Given the description of an element on the screen output the (x, y) to click on. 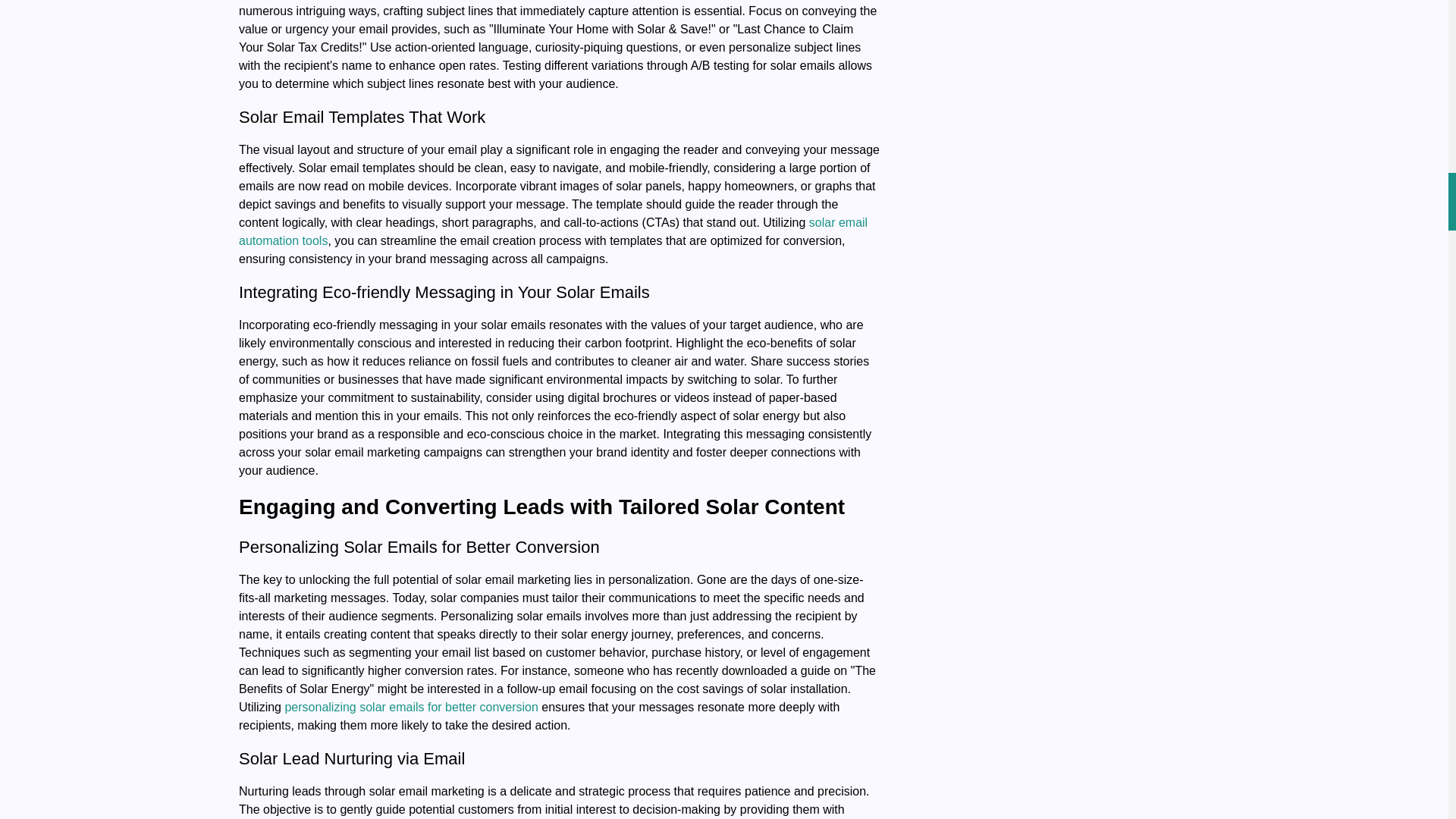
personalizing solar emails for better conversion (410, 707)
solar email automation tools (552, 231)
